Given the description of an element on the screen output the (x, y) to click on. 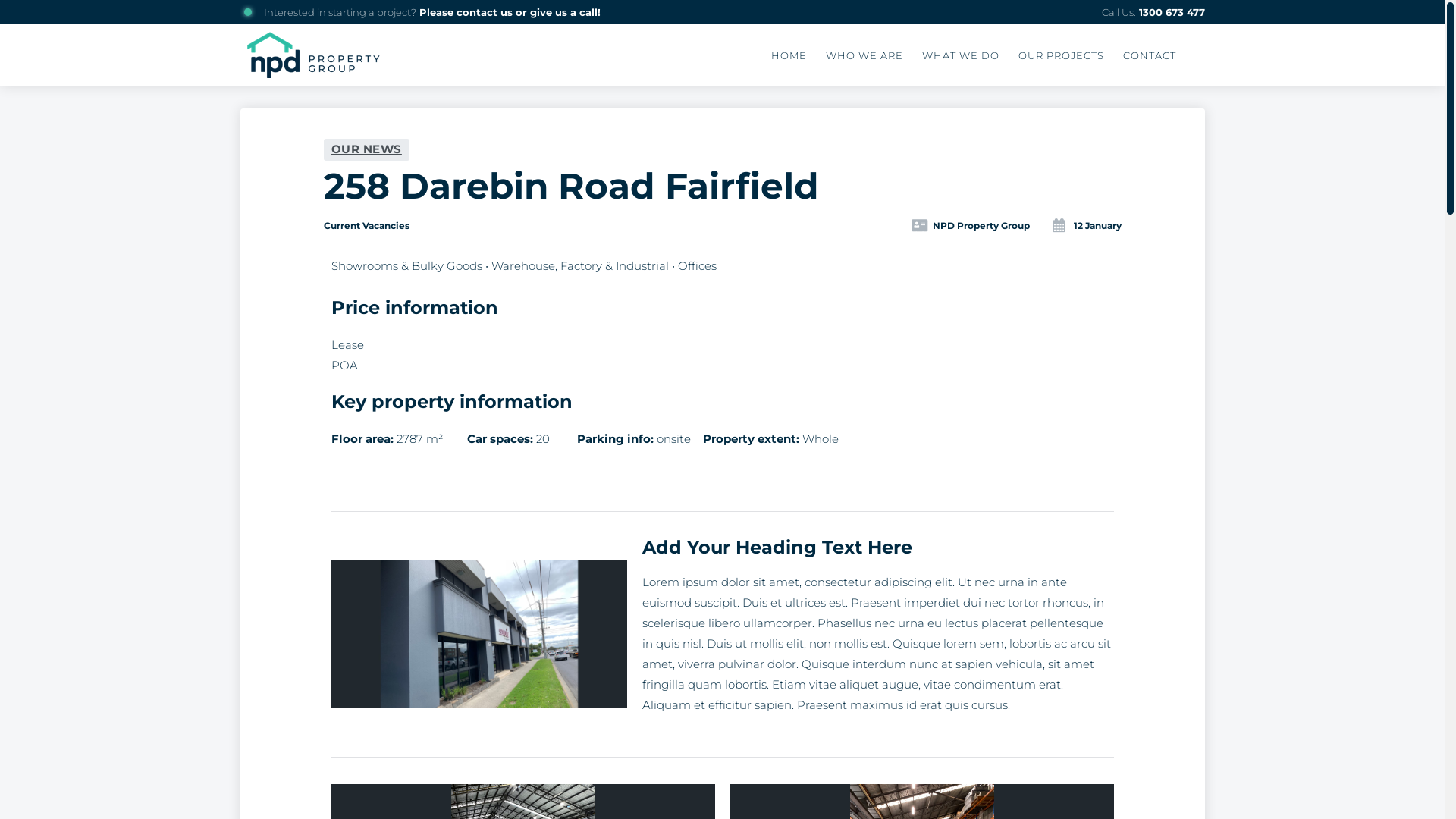
OUR NEWS Element type: text (365, 149)
Call Us: 1300 673 477 Element type: text (1152, 12)
HOME Element type: text (788, 54)
OUR PROJECTS Element type: text (1061, 54)
CONTACT Element type: text (1149, 54)
WHAT WE DO Element type: text (960, 54)
Search Element type: text (937, 41)
WHO WE ARE Element type: text (864, 54)
